Given the description of an element on the screen output the (x, y) to click on. 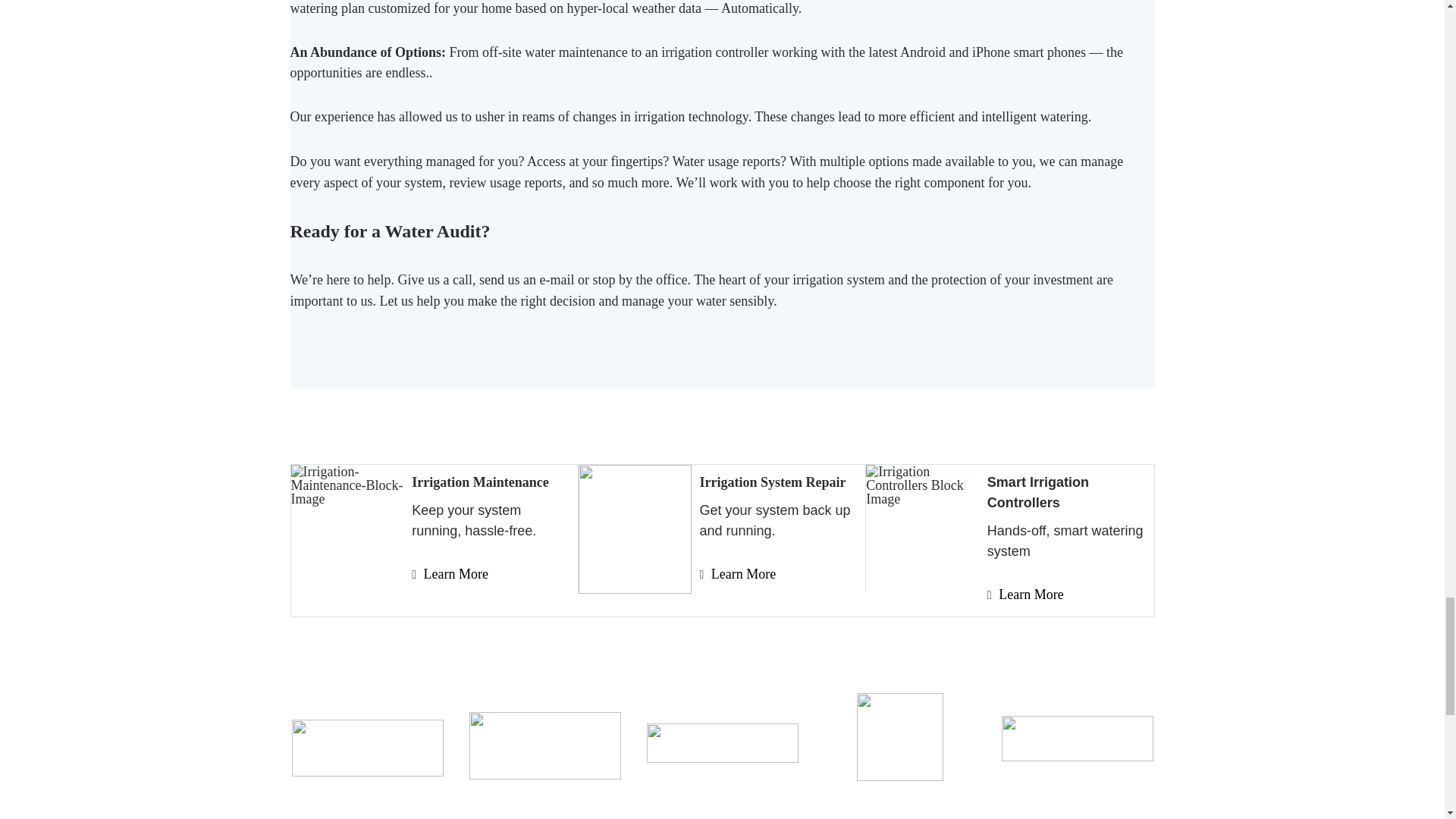
irrigation (721, 742)
cic (900, 736)
hunter (544, 745)
